Given the description of an element on the screen output the (x, y) to click on. 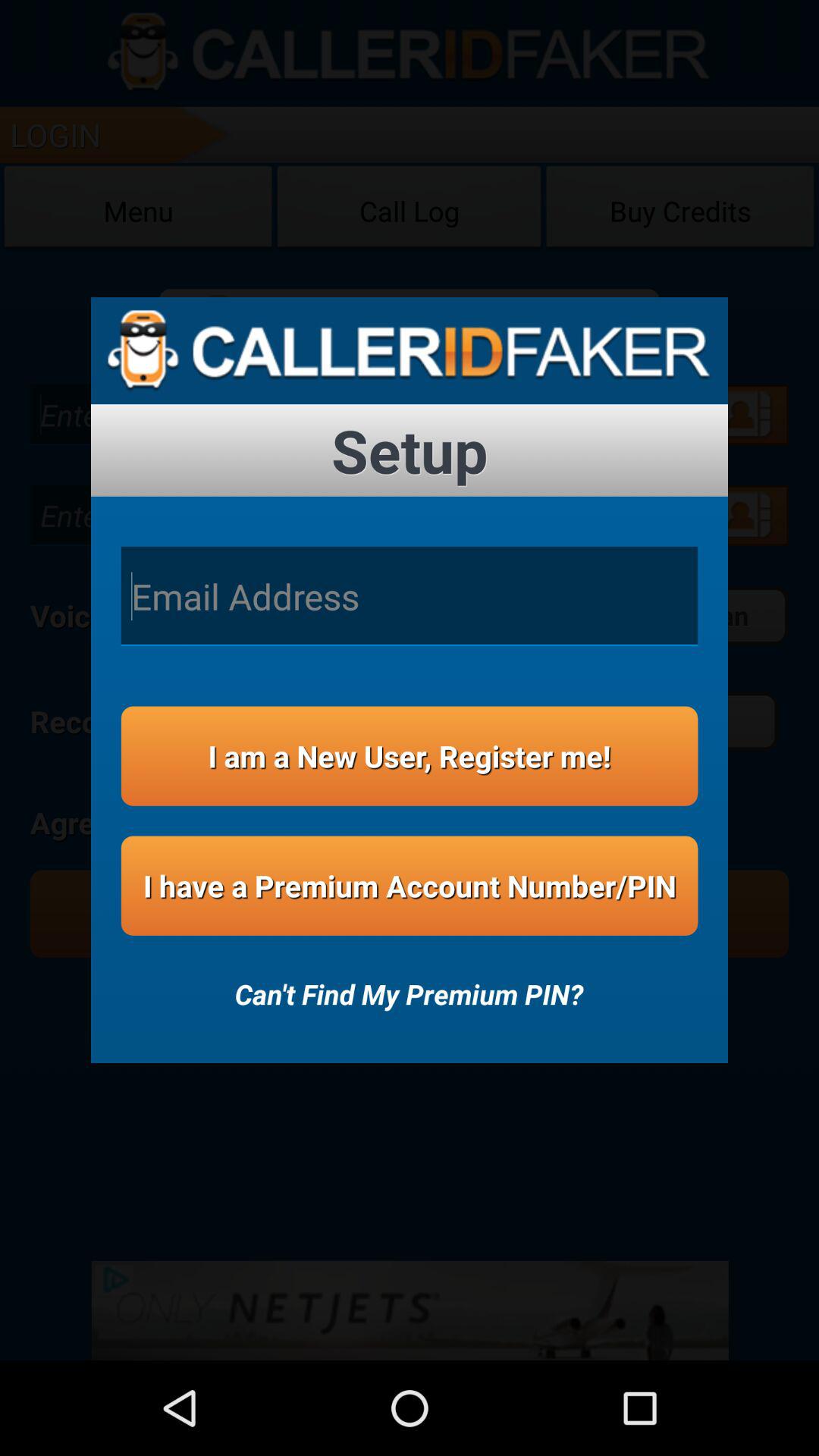
press can t find app (408, 983)
